Given the description of an element on the screen output the (x, y) to click on. 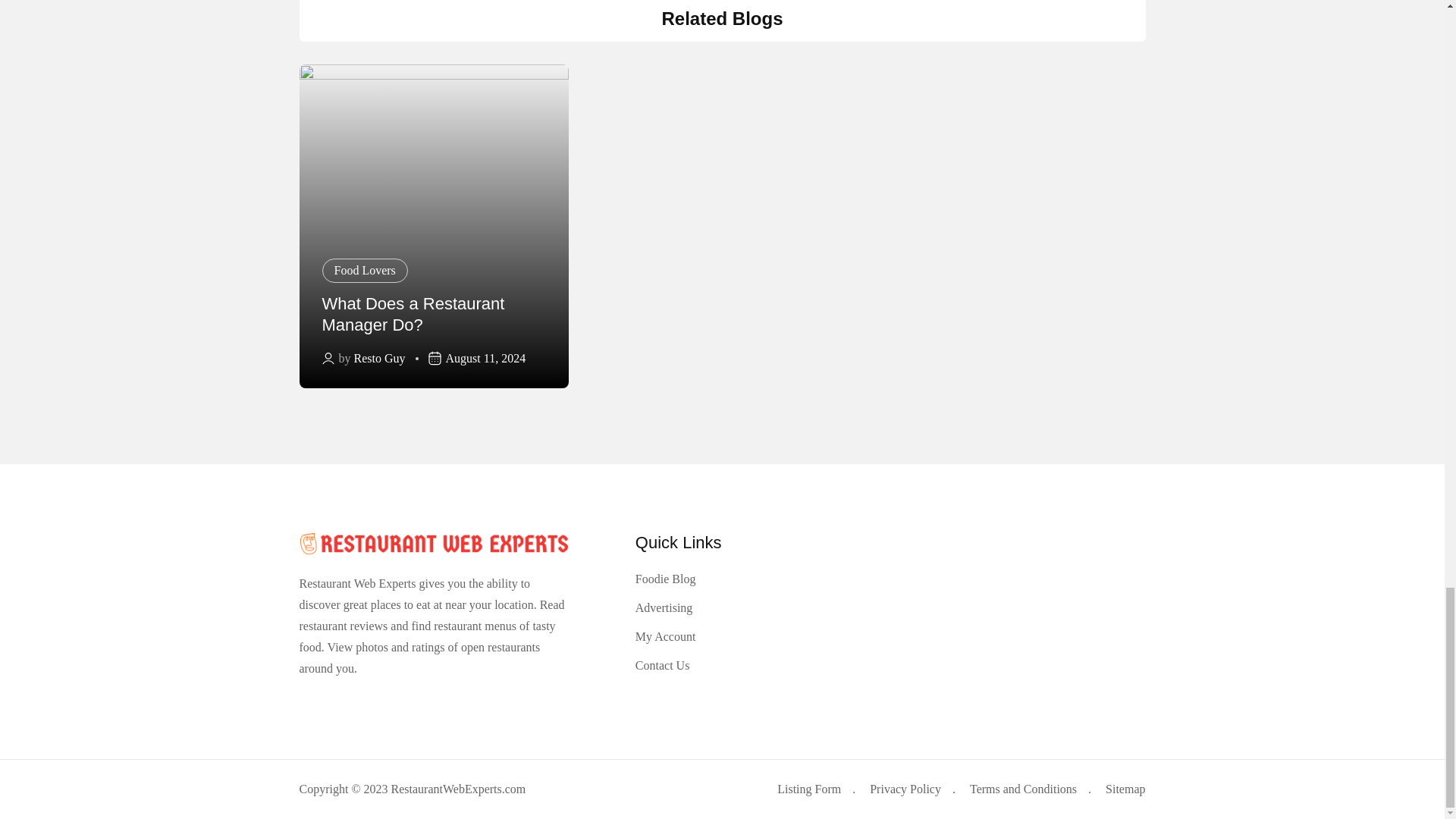
What Does a Restaurant Manager Do? (412, 314)
Resto Guy (378, 358)
Foodie Blog (664, 578)
Advertising (663, 608)
Food Lovers (364, 270)
